Given the description of an element on the screen output the (x, y) to click on. 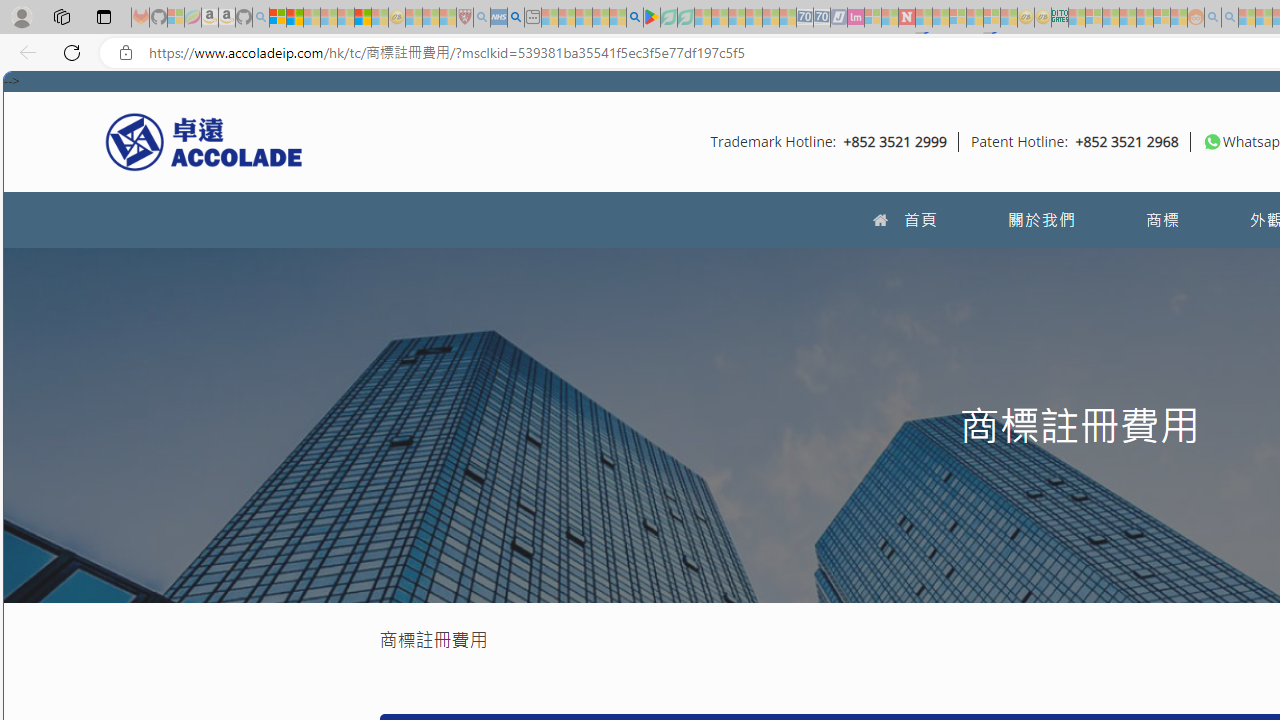
google - Search - Sleeping (634, 17)
Accolade IP HK Logo (203, 141)
list of asthma inhalers uk - Search - Sleeping (481, 17)
Jobs - lastminute.com Investor Portal - Sleeping (855, 17)
Microsoft account | Privacy (277, 17)
